Given the description of an element on the screen output the (x, y) to click on. 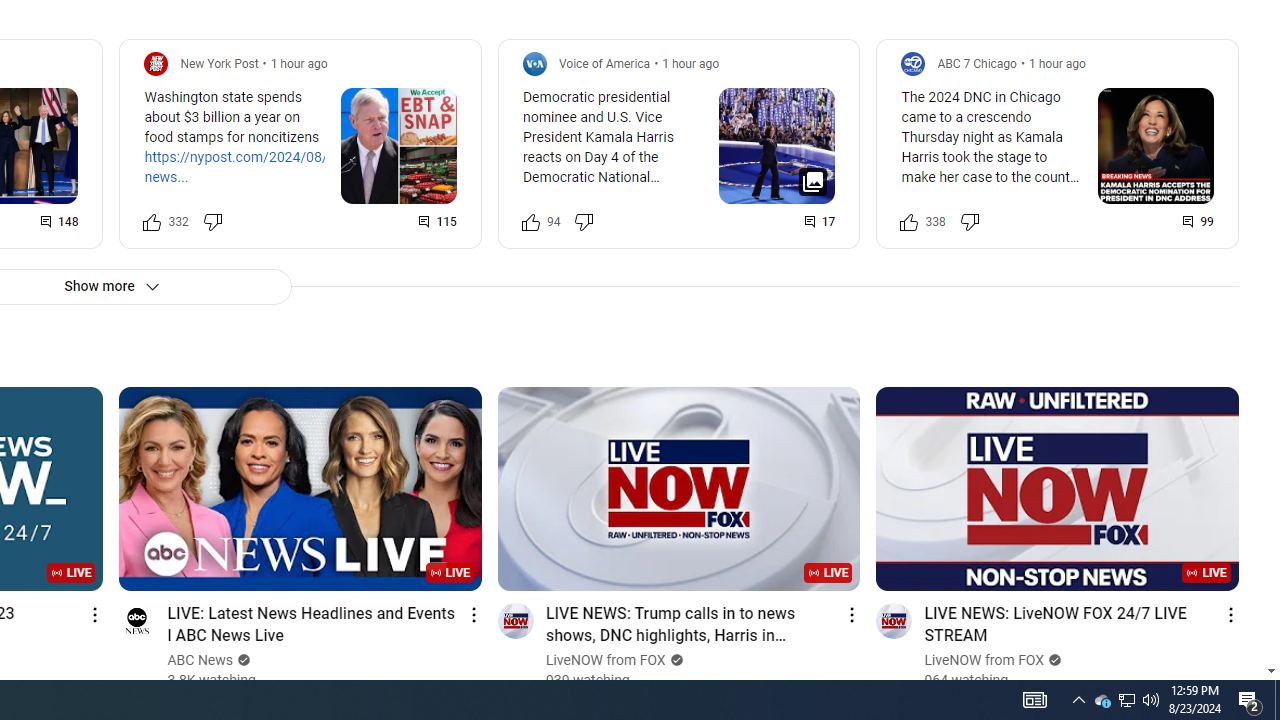
Verified (1053, 660)
New York Post (219, 63)
Voice of America (604, 63)
Comment (1199, 221)
ABC 7 Chicago (976, 63)
LiveNOW from FOX (984, 660)
Go to channel (893, 620)
https://nypost.com/2024/08/21/us-news... (255, 166)
Like this post along with 338 other people (909, 221)
Dislike this post (969, 221)
Like this post along with 94 other people (530, 221)
